Given the description of an element on the screen output the (x, y) to click on. 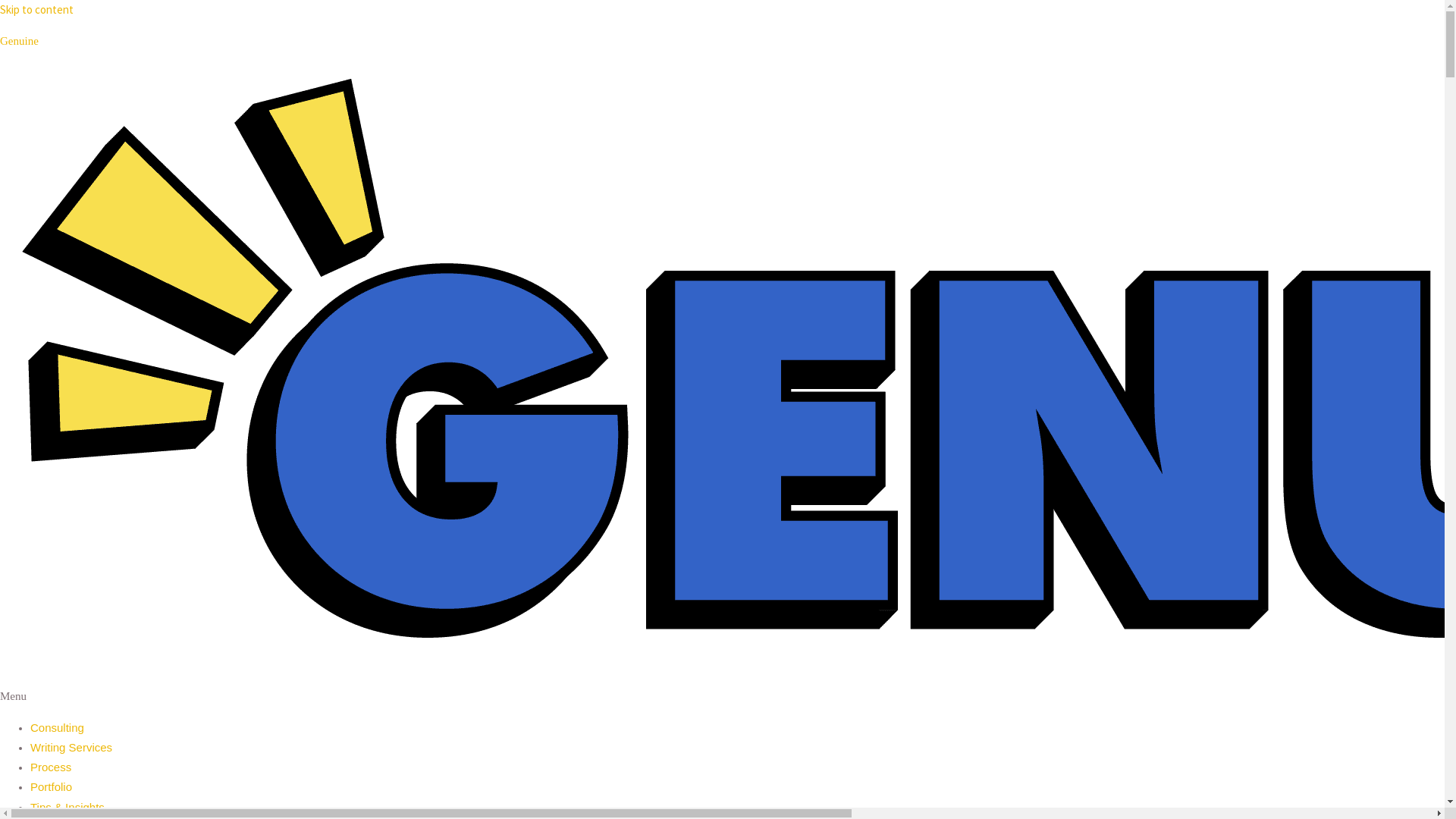
Tips & Insights Element type: text (67, 806)
Skip to content Element type: text (36, 9)
Process Element type: text (50, 766)
Portfolio Element type: text (51, 786)
Writing Services Element type: text (71, 746)
Consulting Element type: text (57, 726)
Genuine Element type: text (19, 40)
